Given the description of an element on the screen output the (x, y) to click on. 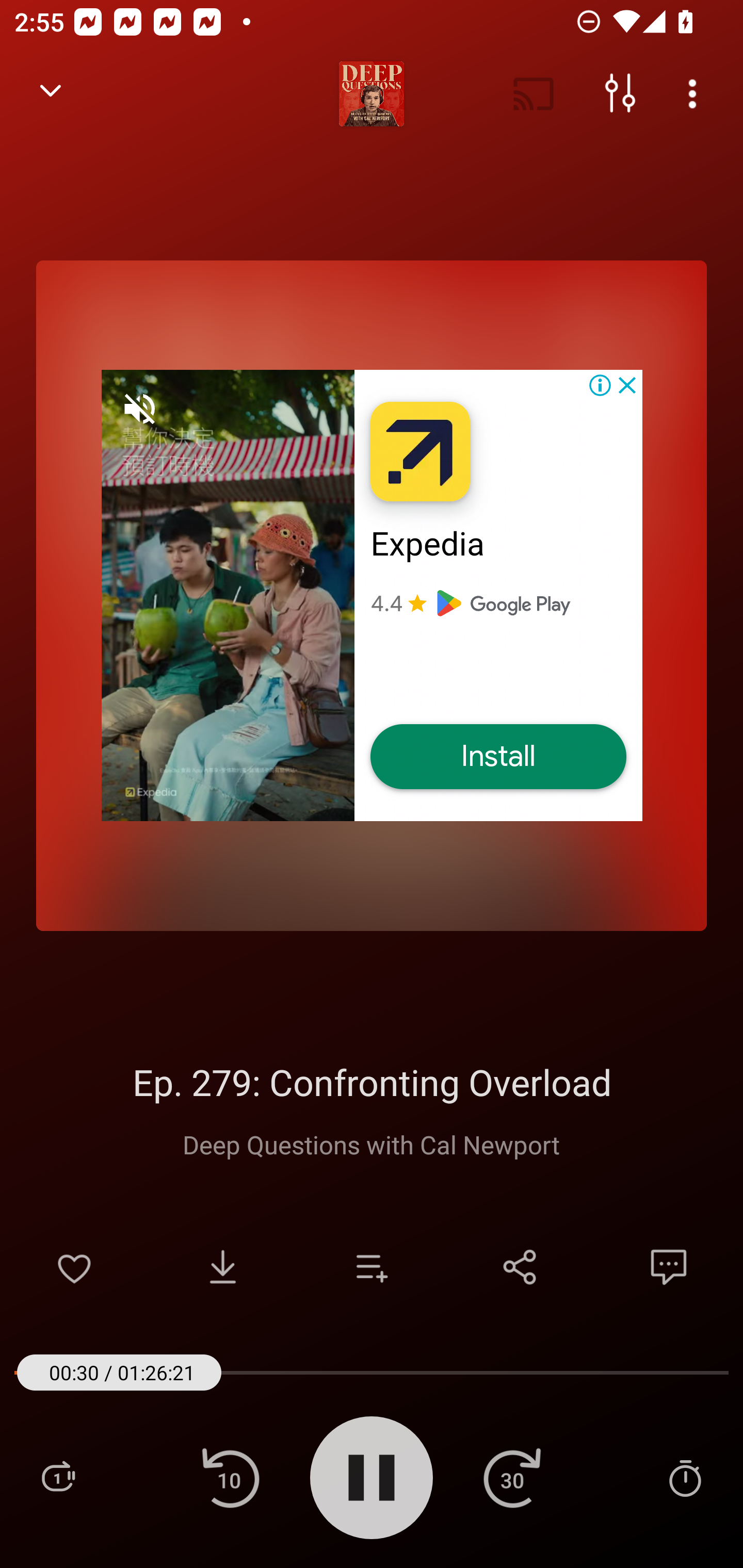
Cast. Disconnected (533, 93)
 Back (50, 94)
ramadan (371, 595)
Install (498, 757)
Ep. 279: Confronting Overload (371, 1081)
Deep Questions with Cal Newport (371, 1144)
Comments (668, 1266)
Add to Favorites (73, 1266)
Add to playlist (371, 1266)
Share (519, 1266)
 Playlist (57, 1477)
Sleep Timer  (684, 1477)
